Given the description of an element on the screen output the (x, y) to click on. 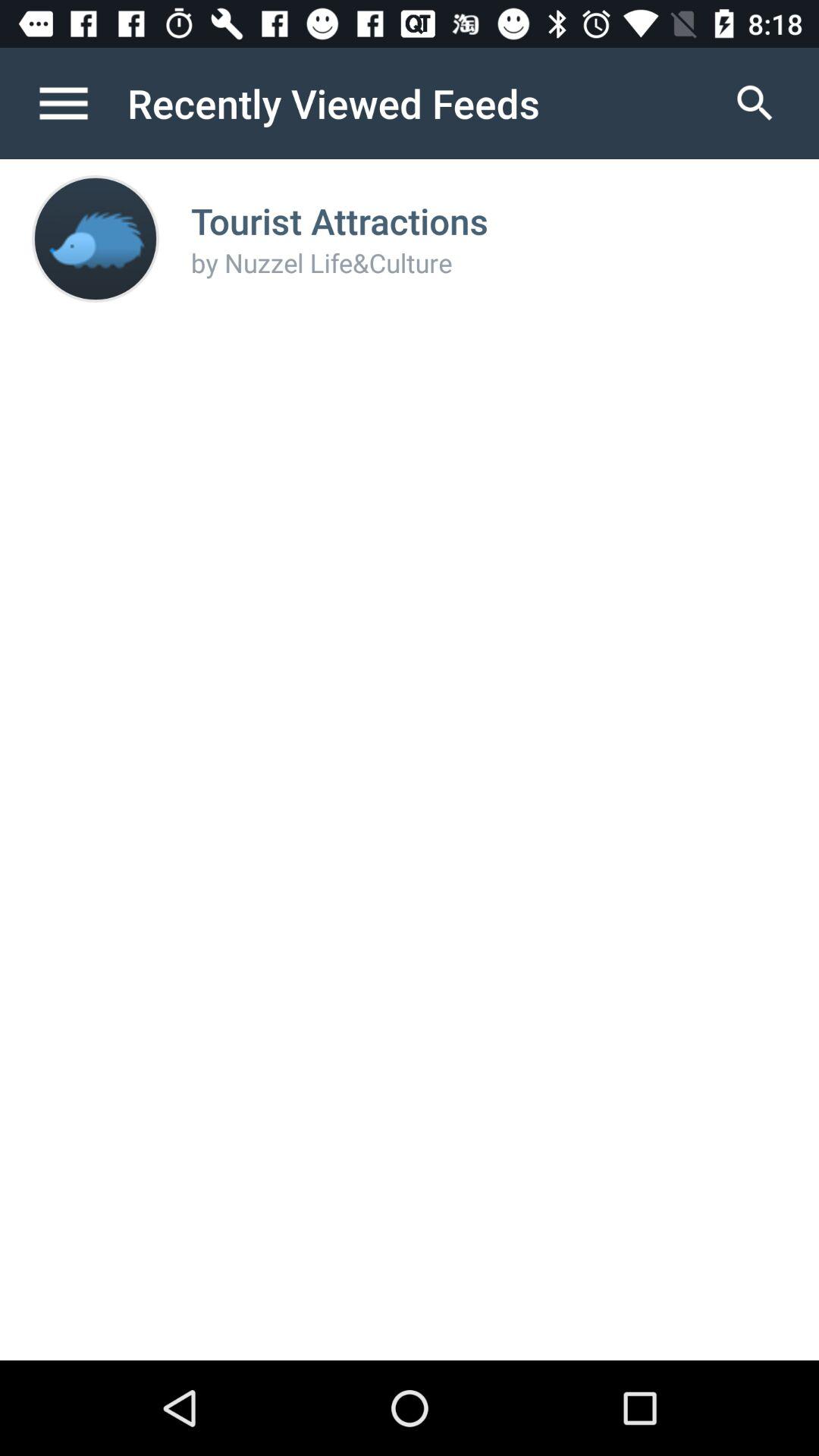
select item next to the recently viewed feeds item (79, 103)
